Given the description of an element on the screen output the (x, y) to click on. 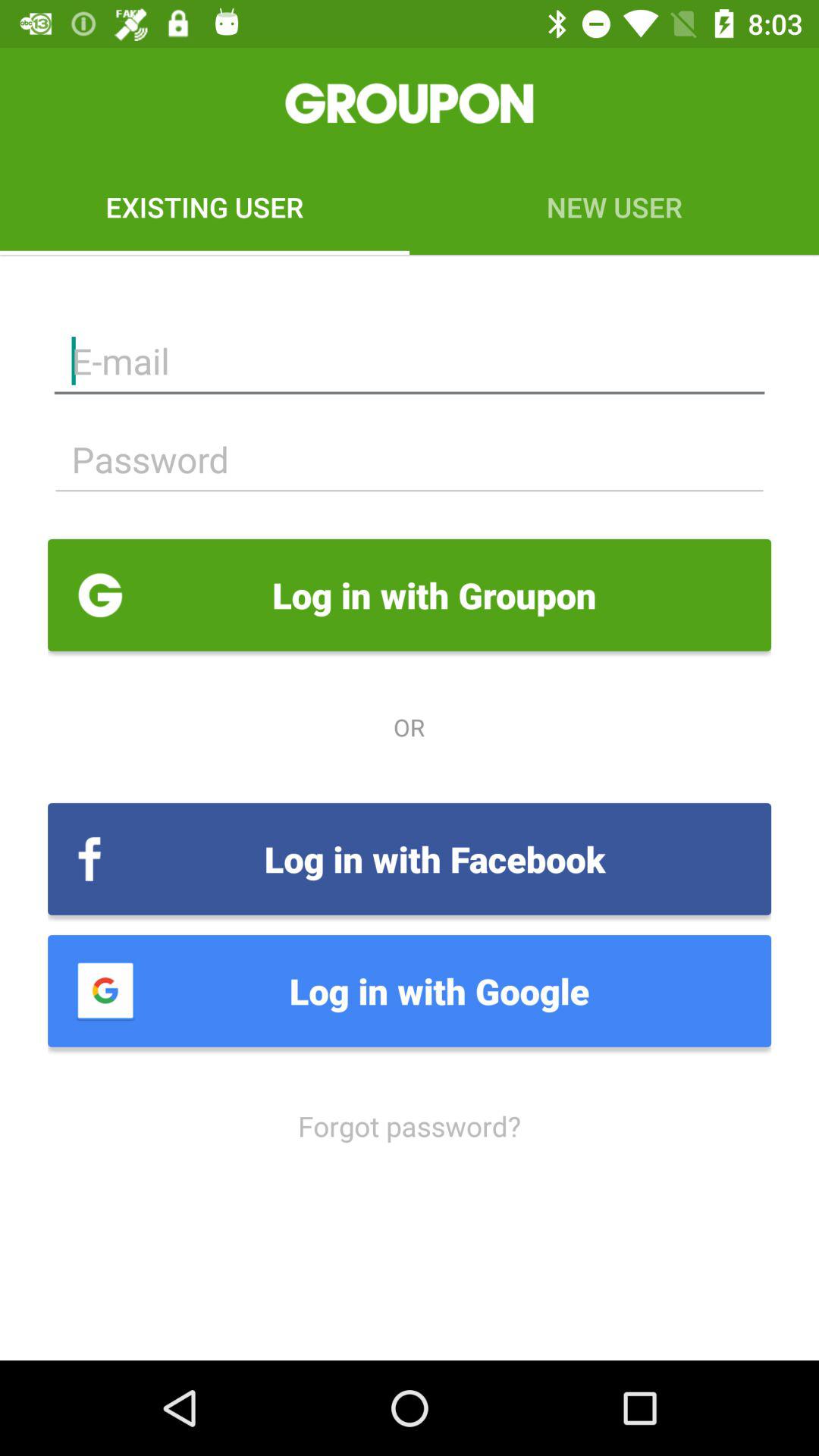
choose item next to existing user icon (614, 206)
